Given the description of an element on the screen output the (x, y) to click on. 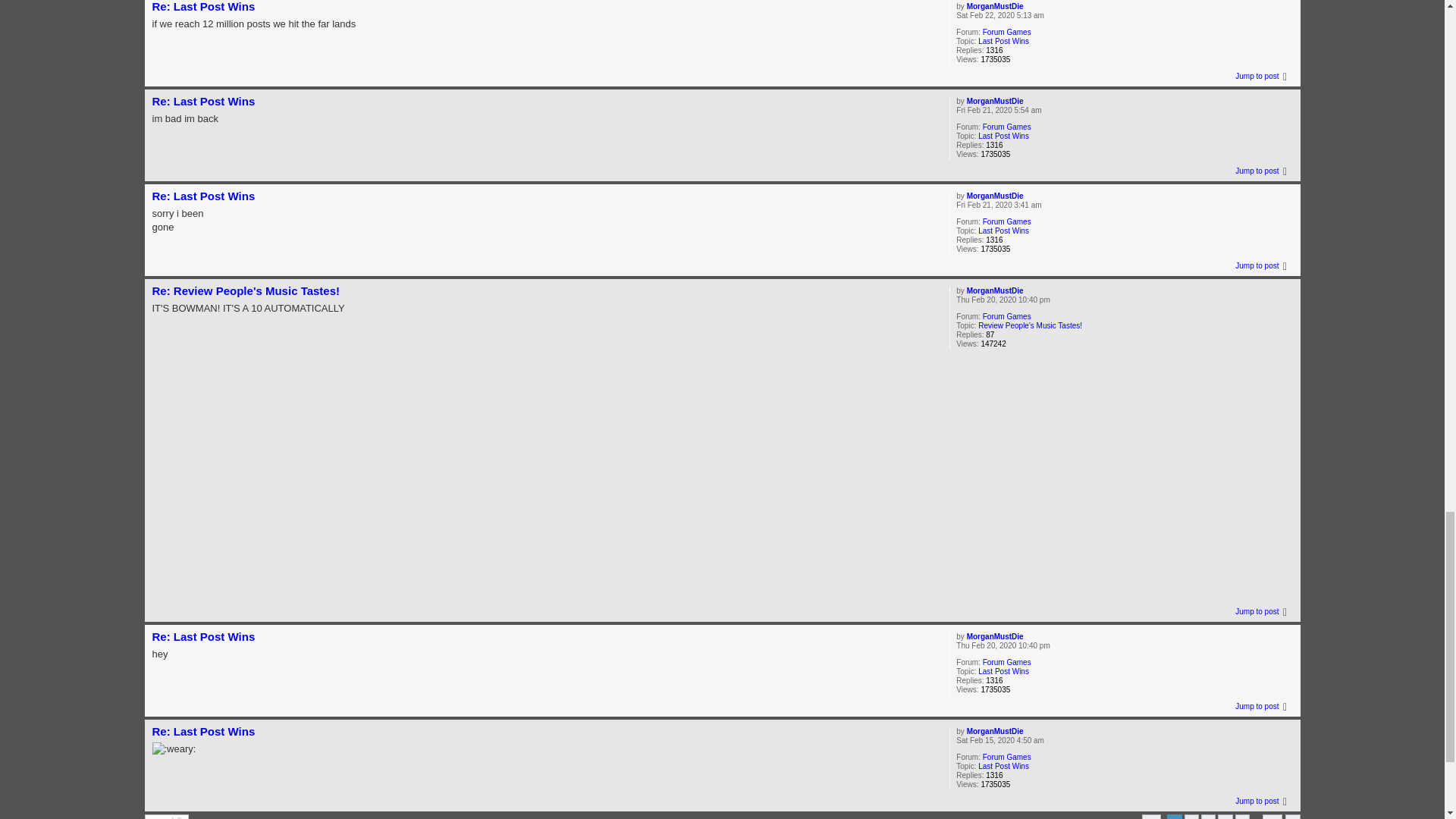
Display and sorting options (166, 816)
